Given the description of an element on the screen output the (x, y) to click on. 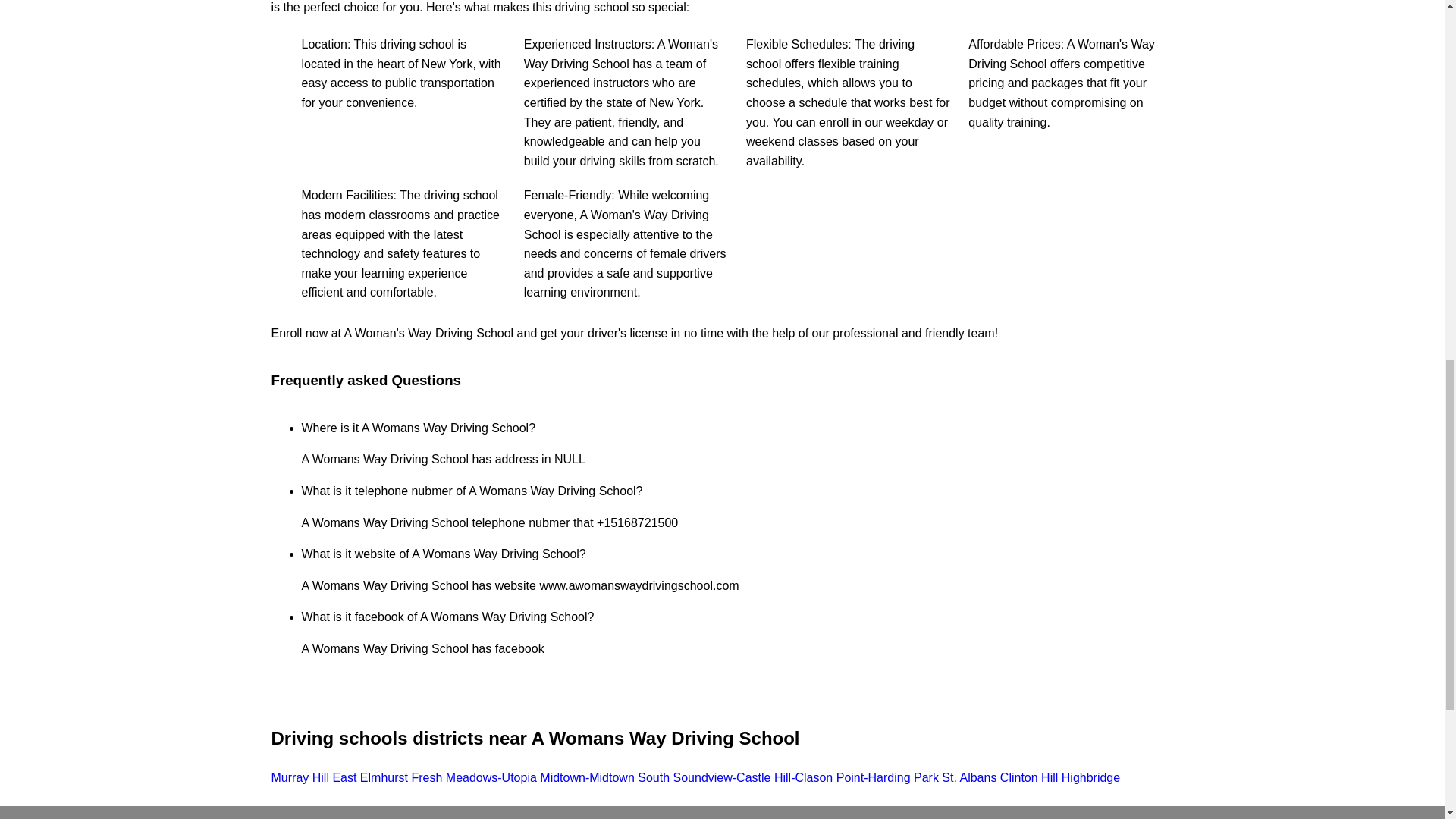
Clinton Hill (1029, 777)
Soundview-Castle Hill-Clason Point-Harding Park (805, 777)
Murray Hill (299, 777)
Midtown-Midtown South (604, 777)
East Elmhurst (369, 777)
Highbridge (1090, 777)
St. Albans (968, 777)
Fresh Meadows-Utopia (472, 777)
